Given the description of an element on the screen output the (x, y) to click on. 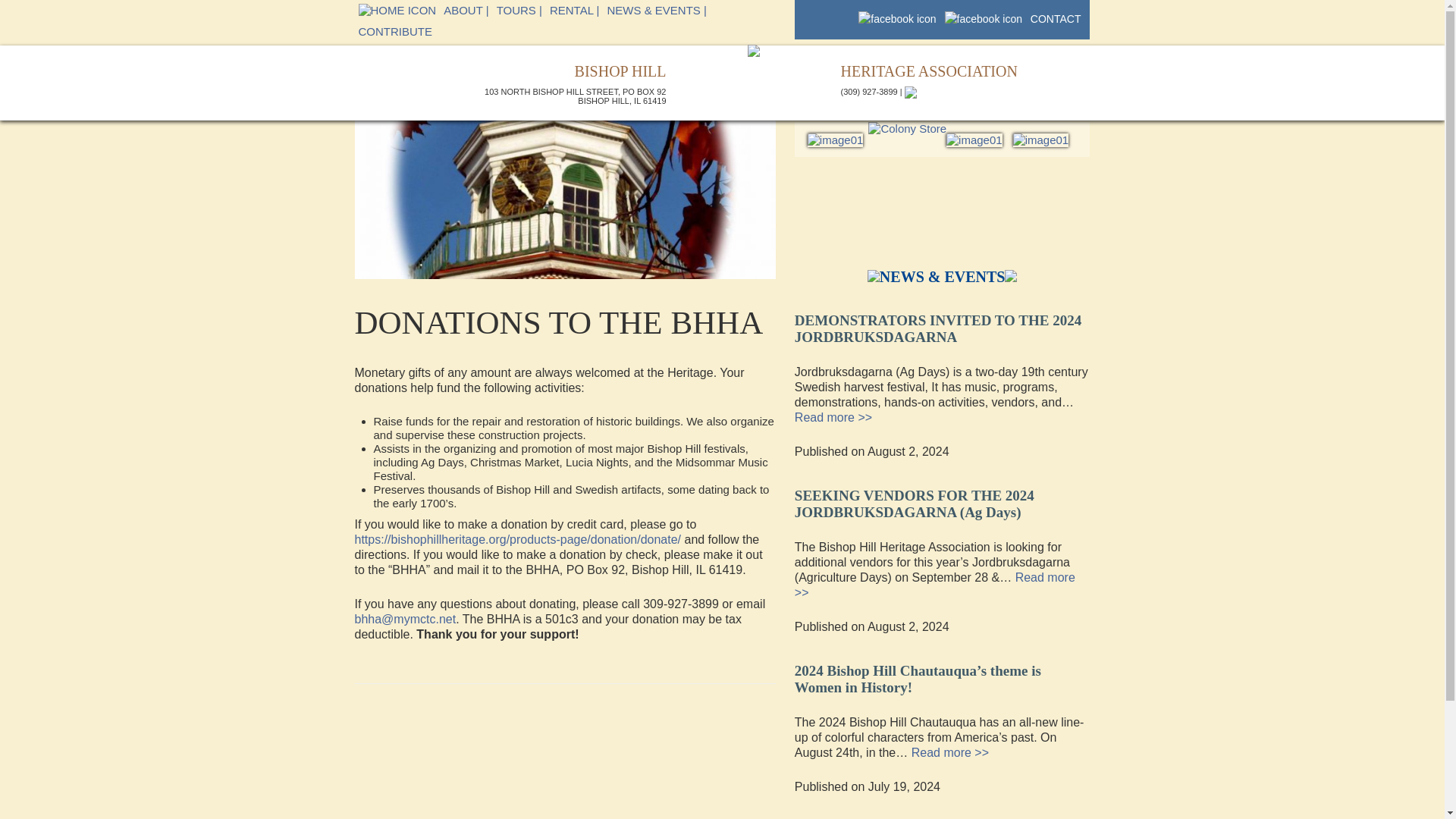
DEMONSTRATORS INVITED TO THE 2024 JORDBRUKSDAGARNA (937, 323)
CONTACT (1055, 18)
CONTRIBUTE (395, 31)
